Given the description of an element on the screen output the (x, y) to click on. 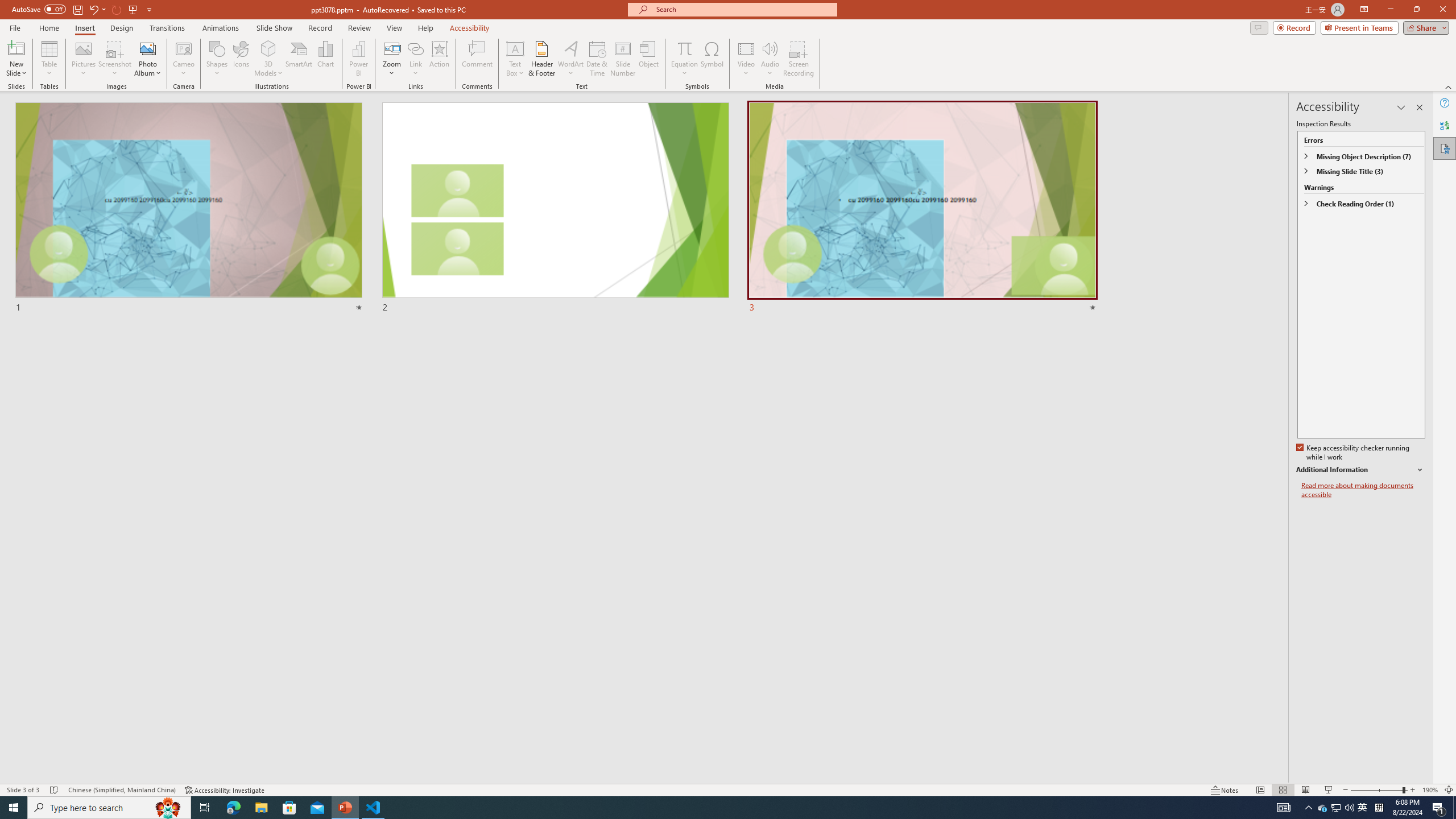
Table (49, 58)
Link (415, 48)
Symbol... (711, 58)
Class: MsoCommandBar (728, 789)
Translator (1444, 125)
Text Box (515, 58)
Pictures (83, 58)
Cameo (183, 58)
WordArt (570, 58)
